Given the description of an element on the screen output the (x, y) to click on. 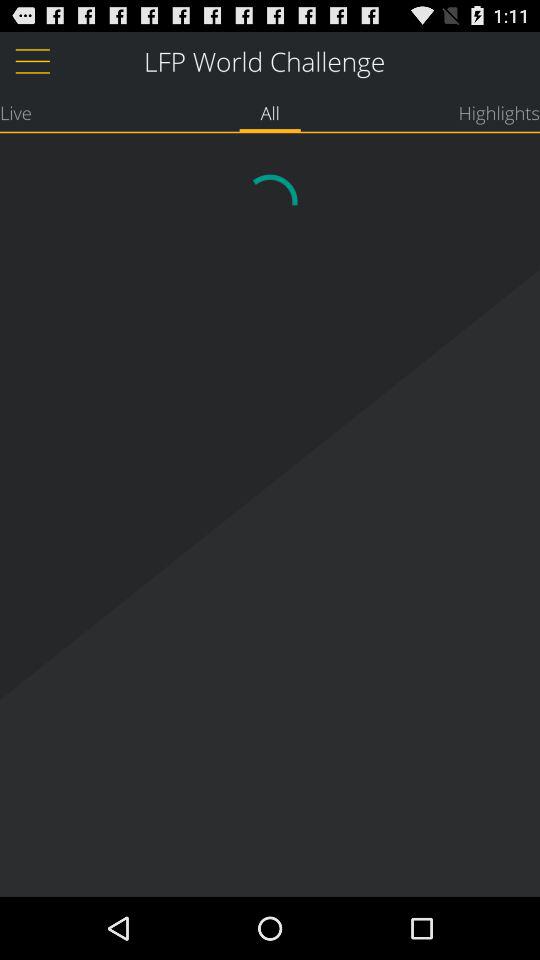
choose the item next to all app (499, 112)
